Given the description of an element on the screen output the (x, y) to click on. 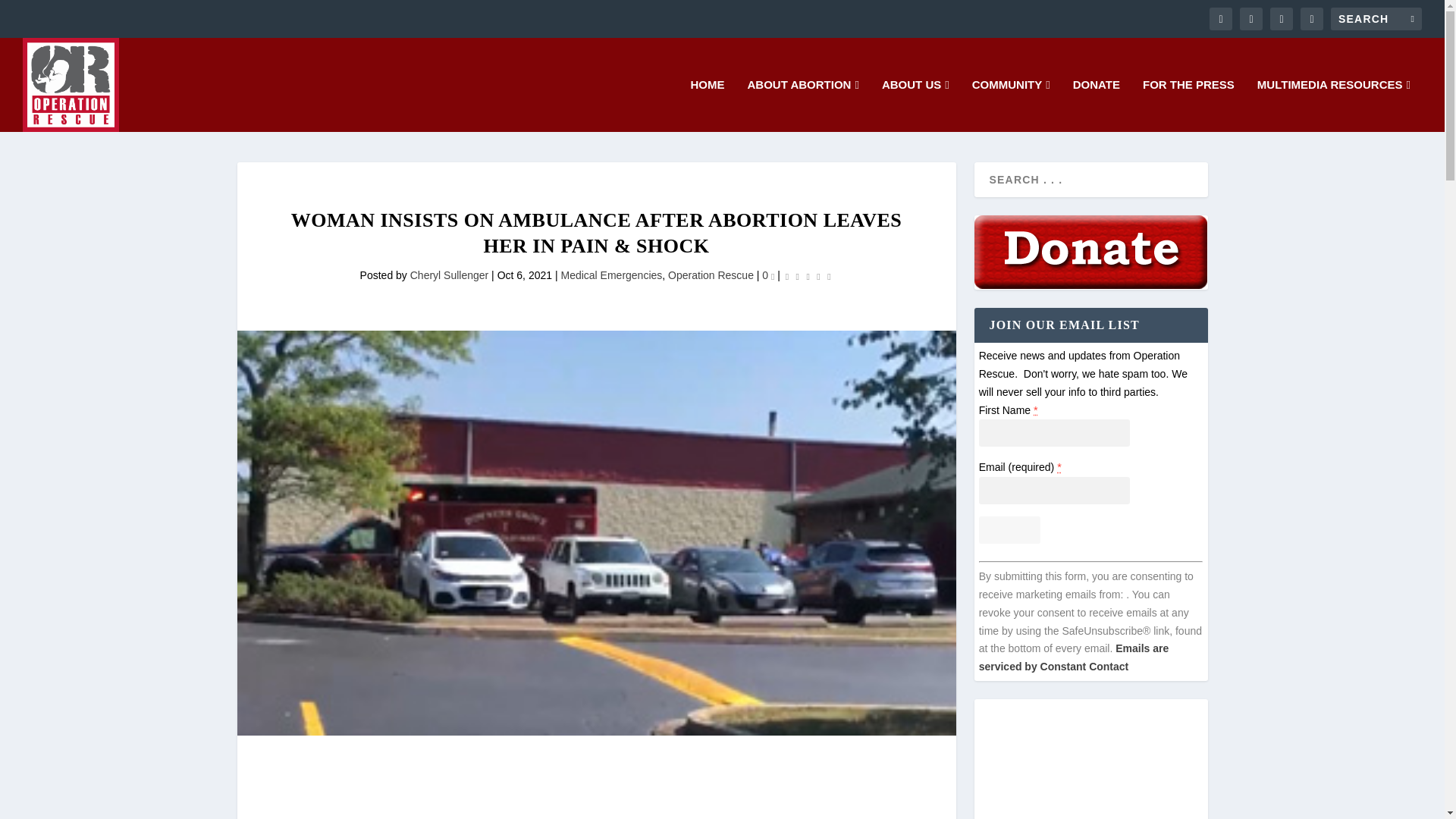
Sign up (1009, 529)
About Abortion (803, 105)
FOR THE PRESS (1188, 105)
MULTIMEDIA RESOURCES (1333, 105)
ABOUT US (915, 105)
ABOUT ABORTION (803, 105)
Search for: (1376, 18)
COMMUNITY (1010, 105)
